Given the description of an element on the screen output the (x, y) to click on. 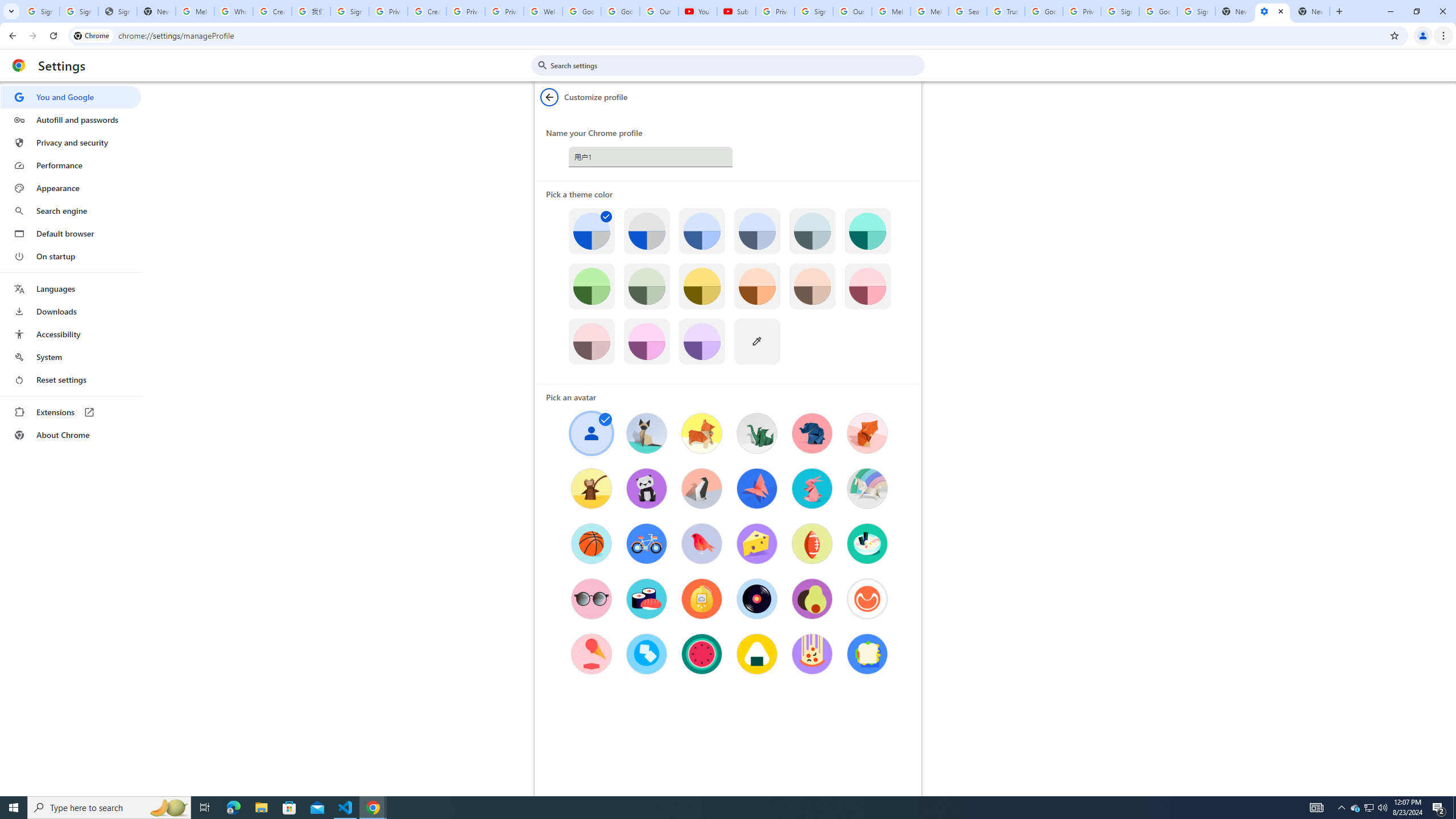
Performance (70, 164)
Downloads (70, 311)
AutomationID: menu (71, 265)
Google Ads - Sign in (1043, 11)
Create your Google Account (272, 11)
Appearance (70, 187)
Default browser (70, 233)
Accessibility (70, 333)
Sign in - Google Accounts (349, 11)
